Given the description of an element on the screen output the (x, y) to click on. 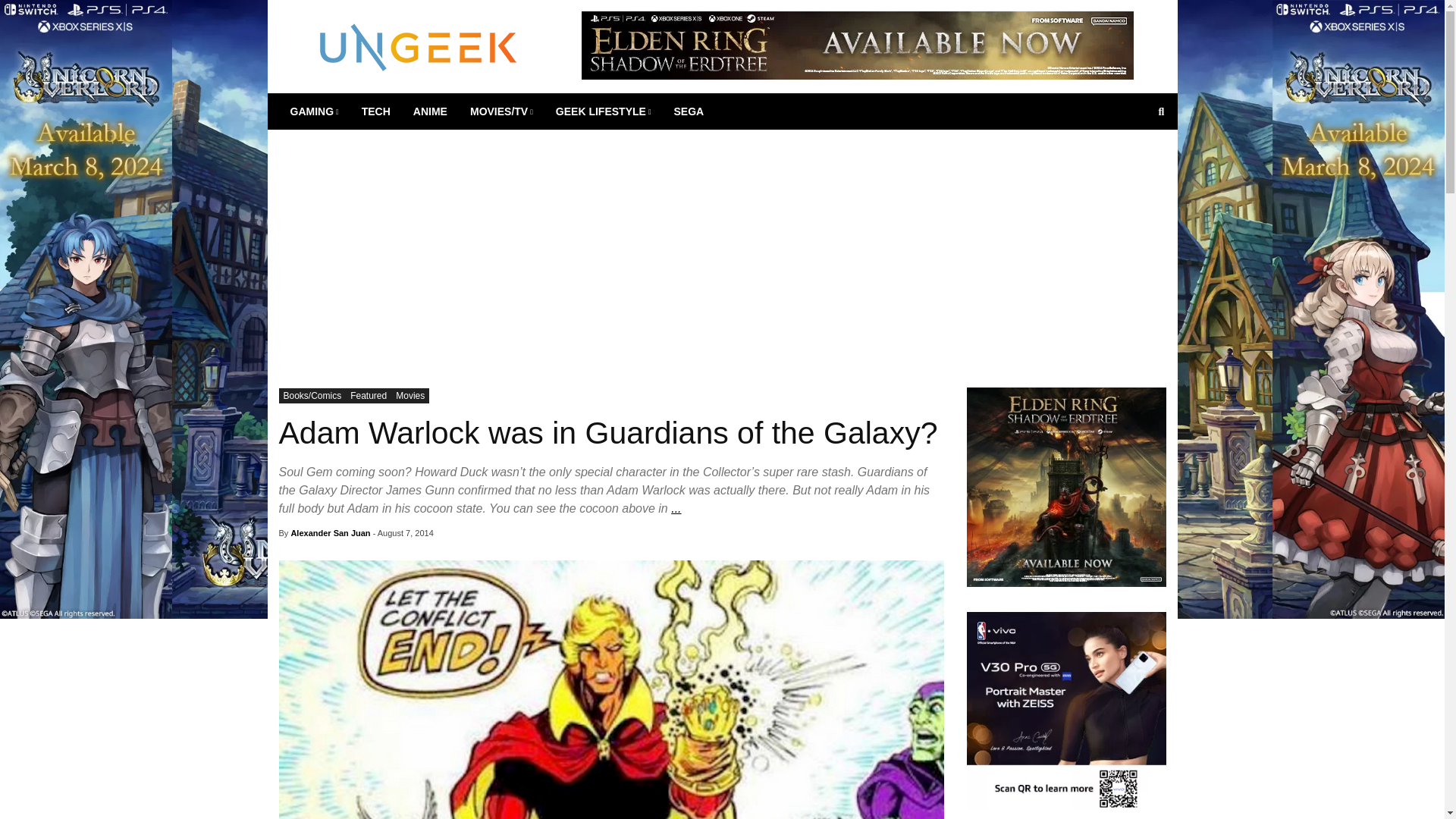
GEEK LIFESTYLE (603, 111)
GAMING (314, 111)
UnGeek (419, 46)
SEGA (689, 111)
TECH (375, 111)
August 7, 2014 (405, 532)
ANIME (429, 111)
Posts by Alexander San Juan (329, 532)
Featured (368, 395)
Alexander San Juan (329, 532)
UnGeek (418, 46)
Movies (410, 395)
